Given the description of an element on the screen output the (x, y) to click on. 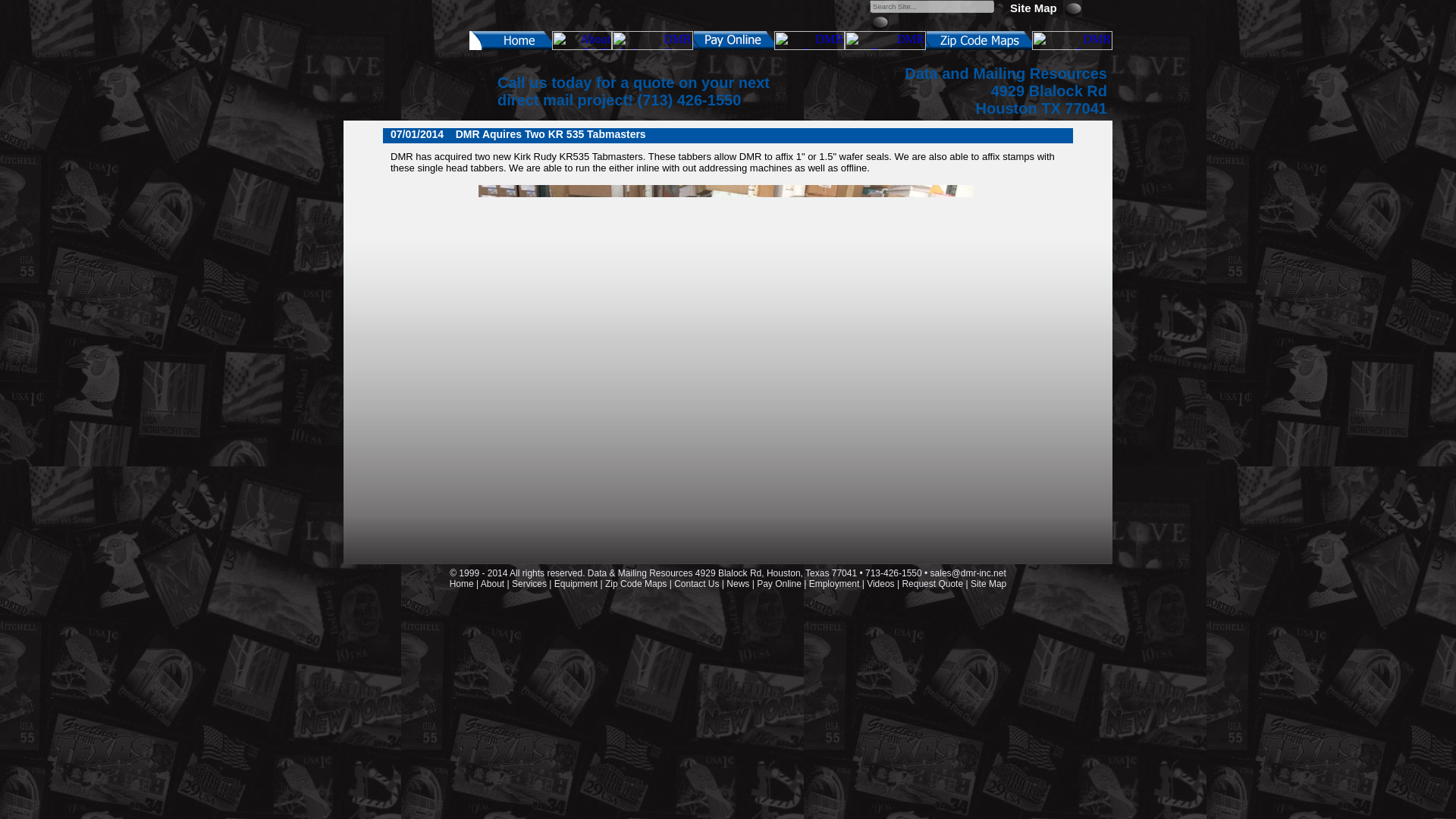
Services (529, 583)
Pay Online (779, 583)
Contact Us (696, 583)
Videos (879, 583)
News (737, 583)
Site Map (988, 583)
Equipment (575, 583)
Zip Code Maps (635, 583)
Home (461, 583)
Request Quote (931, 583)
About (491, 583)
Employment (834, 583)
Search Site... (931, 6)
